Given the description of an element on the screen output the (x, y) to click on. 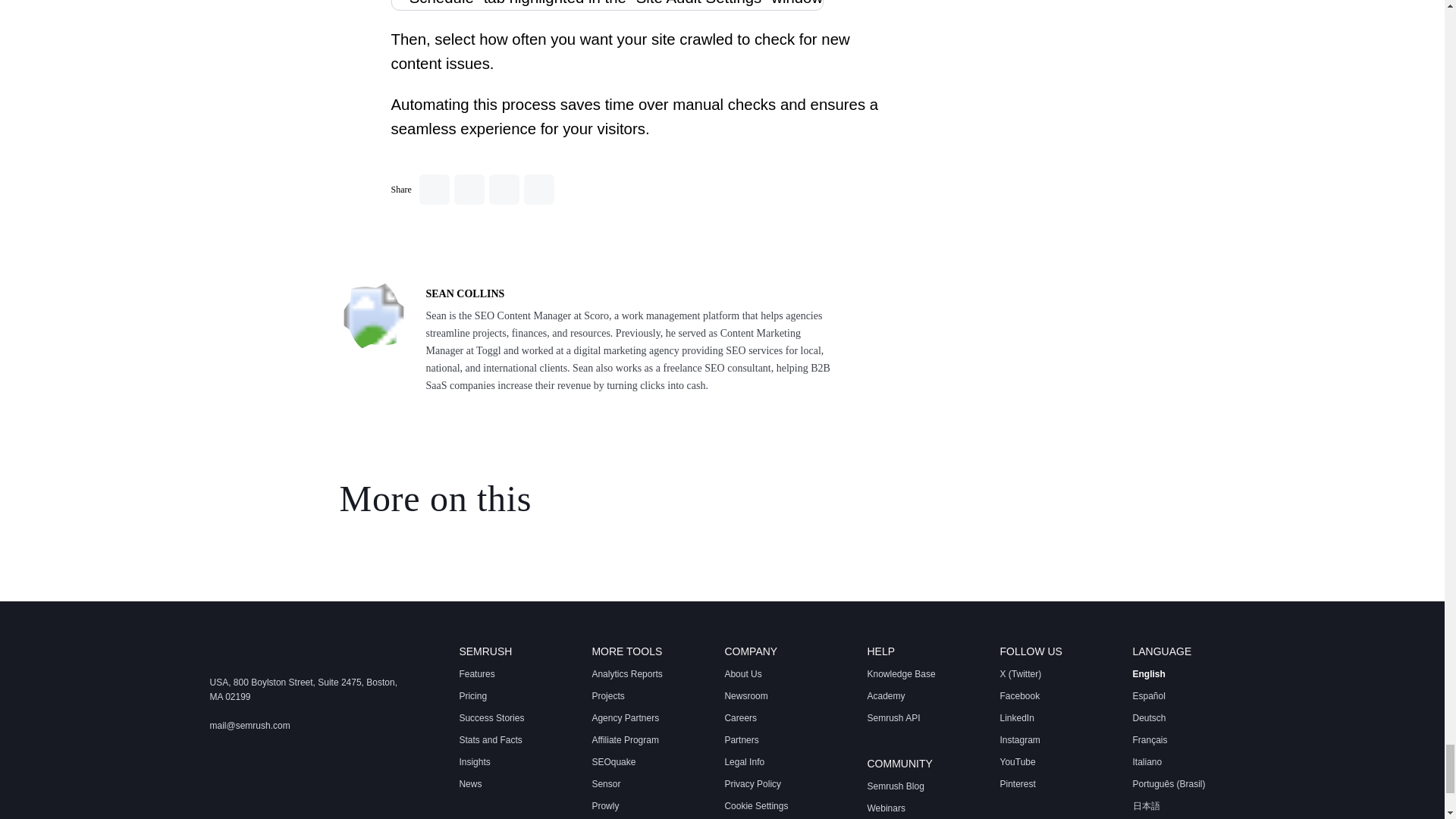
Share (434, 189)
Share (539, 189)
SEAN COLLINS (465, 294)
Author Photo (373, 317)
Share (504, 189)
Author Photo (373, 318)
Share (469, 189)
